Given the description of an element on the screen output the (x, y) to click on. 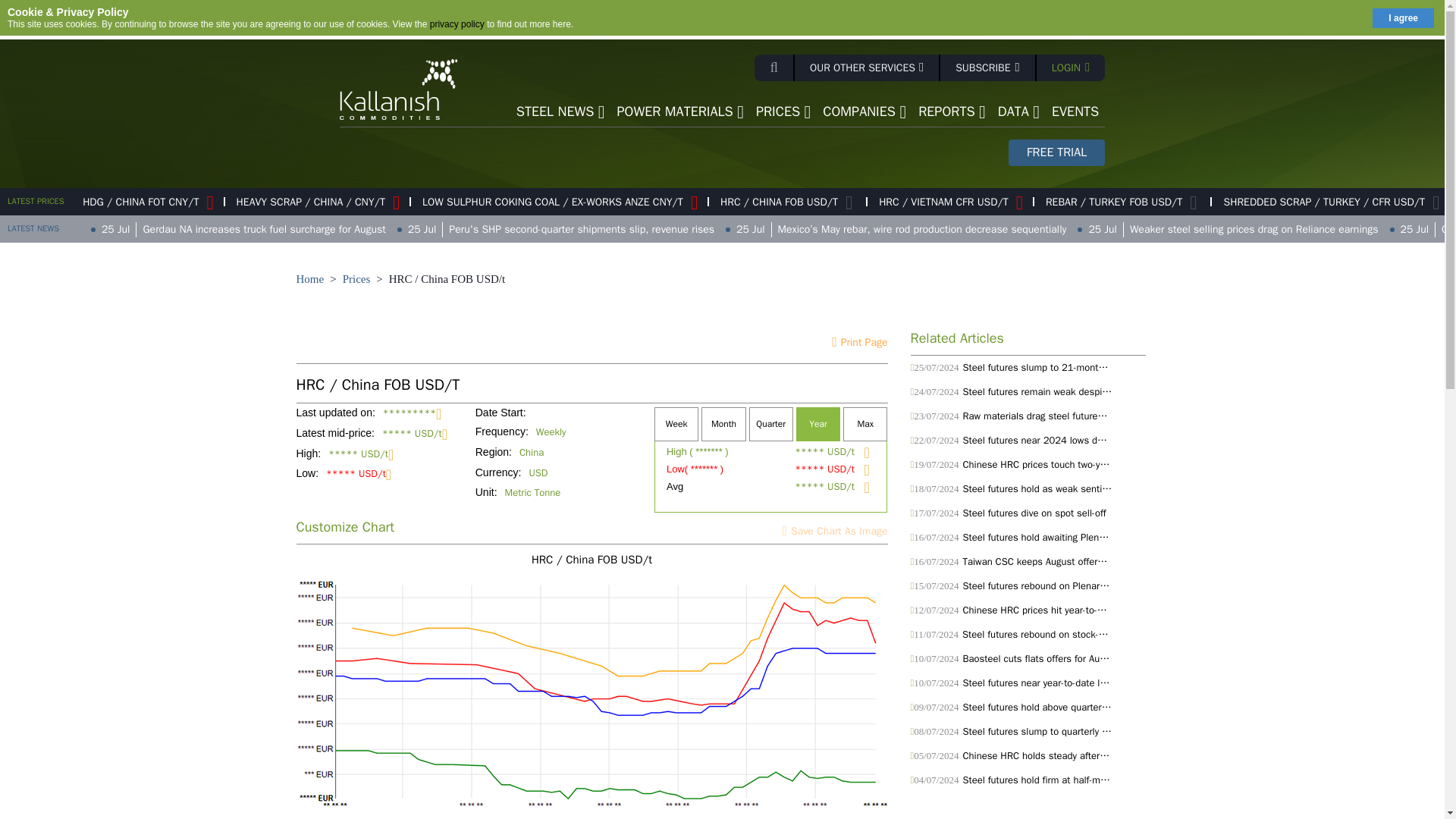
OUR OTHER SERVICES (867, 67)
POWER MATERIALS (680, 111)
LOGIN (1070, 67)
I agree (1403, 17)
privacy policy (456, 23)
STEEL NEWS (561, 111)
SUBSCRIBE (988, 67)
